Given the description of an element on the screen output the (x, y) to click on. 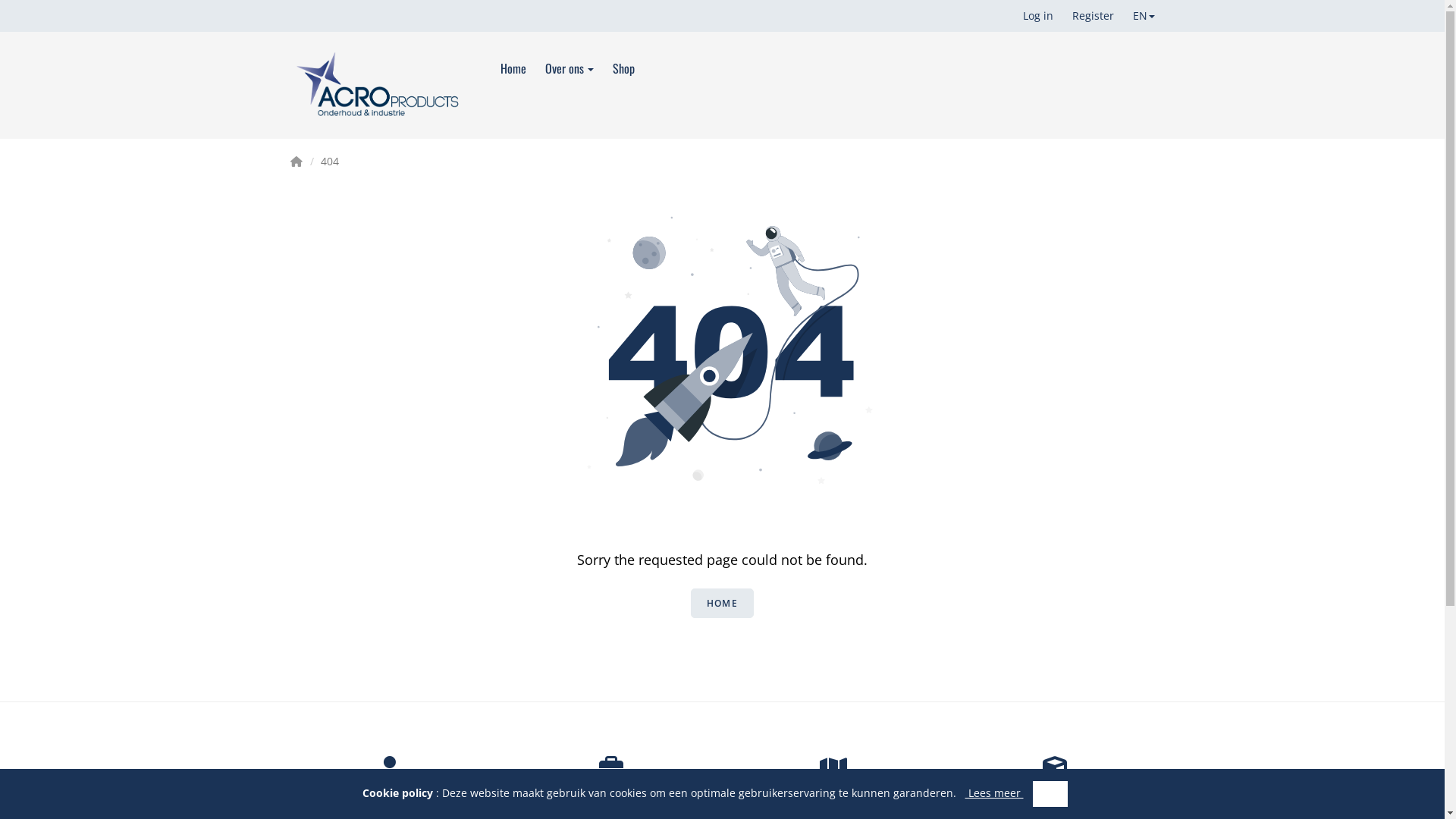
Acro Products Element type: hover (377, 84)
Over ons Element type: text (578, 68)
Log in Element type: text (1038, 15)
Shop Element type: text (632, 68)
EN Element type: text (1145, 15)
Register Element type: text (1094, 15)
Lees meer Element type: text (993, 792)
HOME Element type: text (721, 603)
OK Element type: text (1049, 793)
Home Element type: text (522, 68)
